Given the description of an element on the screen output the (x, y) to click on. 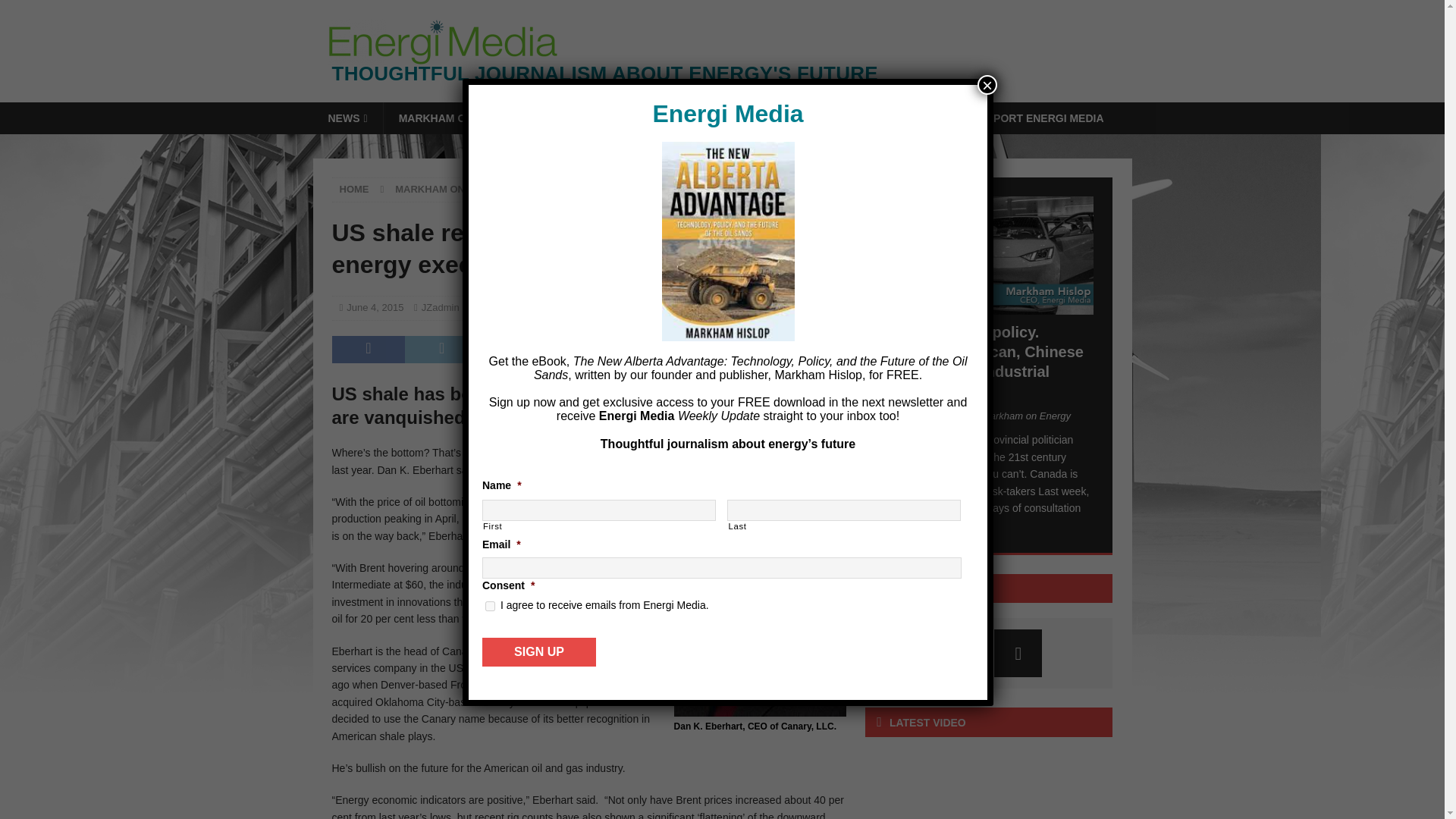
UNETHICAL OIL (703, 118)
1 (489, 605)
NEWS (347, 118)
JZadmin (441, 307)
Sign Up (538, 652)
SUPPORT ENERGI MEDIA (1036, 118)
ENERGI NOTES (591, 118)
MARKHAM ON ENERGY (451, 188)
